Given the description of an element on the screen output the (x, y) to click on. 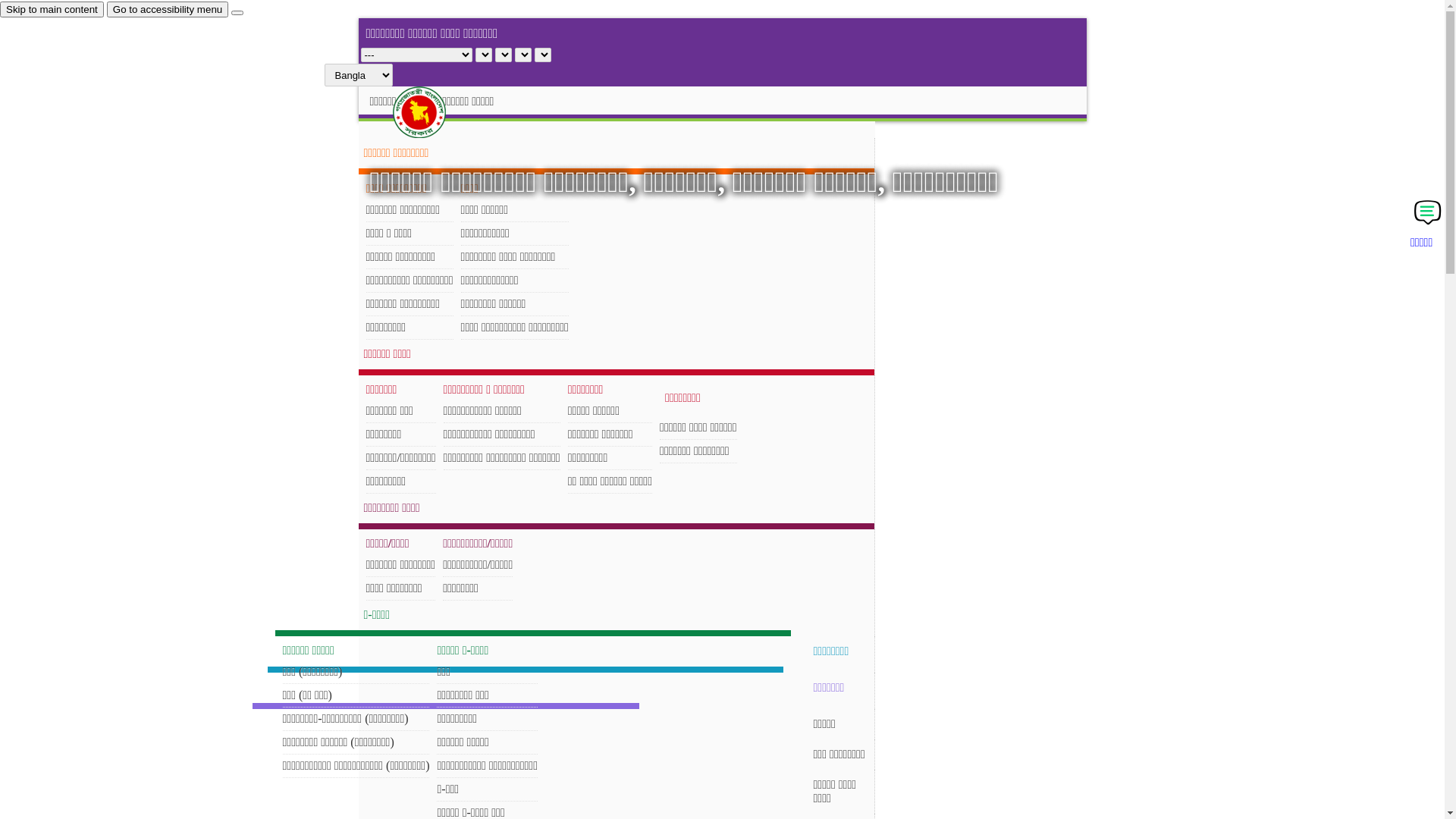
Skip to main content Element type: text (51, 9)
close Element type: hover (237, 12)
Go to accessibility menu Element type: text (167, 9)

                
             Element type: hover (431, 112)
